Given the description of an element on the screen output the (x, y) to click on. 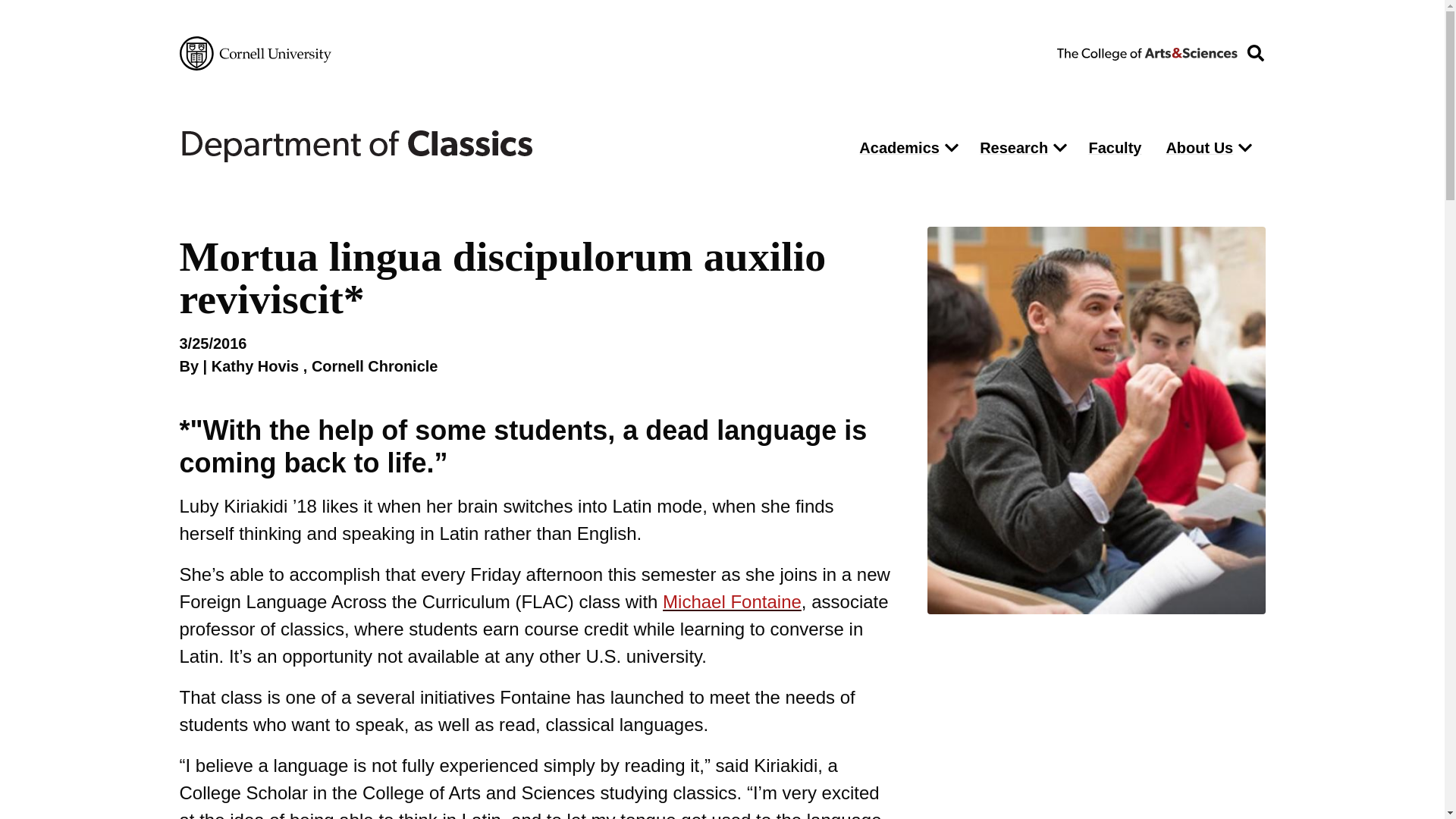
College of Arts and Sciences (1146, 52)
Research (1010, 147)
Search (975, 189)
Cornell University (254, 53)
About Us (1195, 147)
Faculty (1114, 147)
Academics (895, 147)
Open search (1255, 53)
Michael Fontaine (732, 601)
Department Homepage (505, 143)
Cornell University (254, 53)
